Given the description of an element on the screen output the (x, y) to click on. 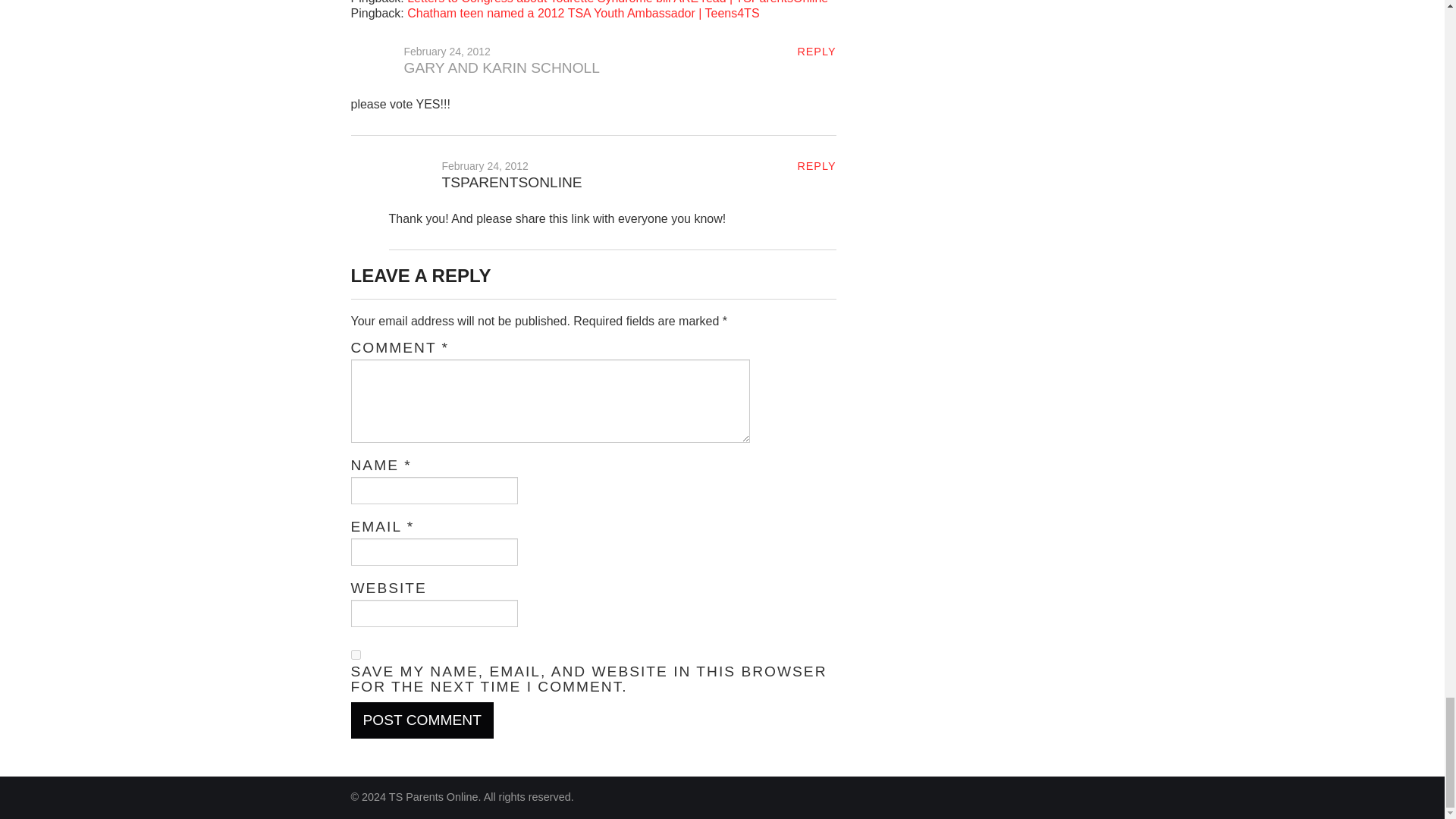
Post Comment (421, 719)
REPLY (815, 51)
Post Comment (421, 719)
yes (354, 655)
February 24, 2012 (484, 165)
TSPARENTSONLINE (510, 182)
February 24, 2012 (446, 51)
REPLY (815, 165)
